Given the description of an element on the screen output the (x, y) to click on. 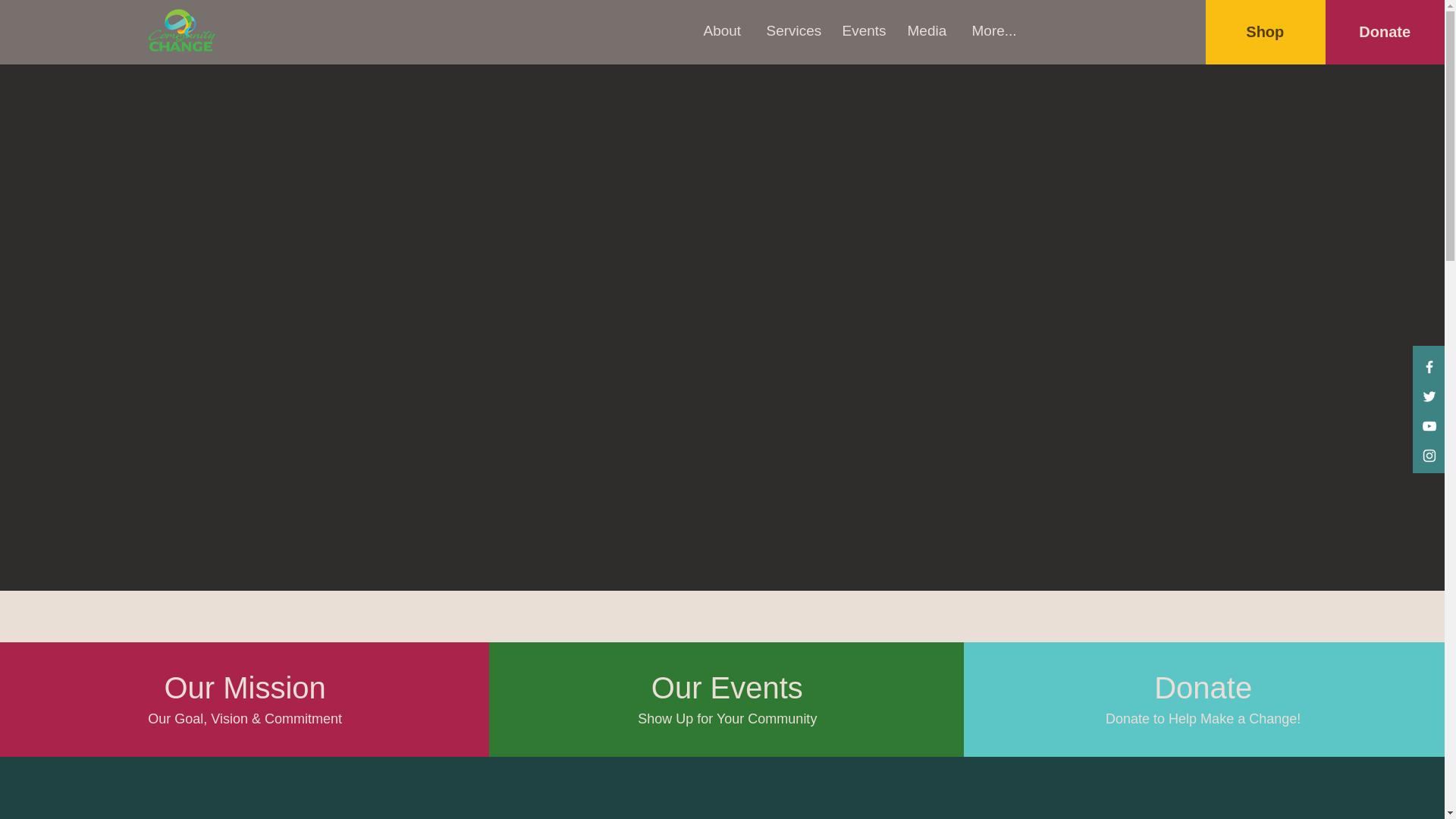
Donate (1384, 31)
Events (862, 30)
Donate (1202, 687)
Our Mission (245, 687)
Our Events (726, 687)
Shop (1265, 31)
Media (927, 30)
About (722, 30)
